Given the description of an element on the screen output the (x, y) to click on. 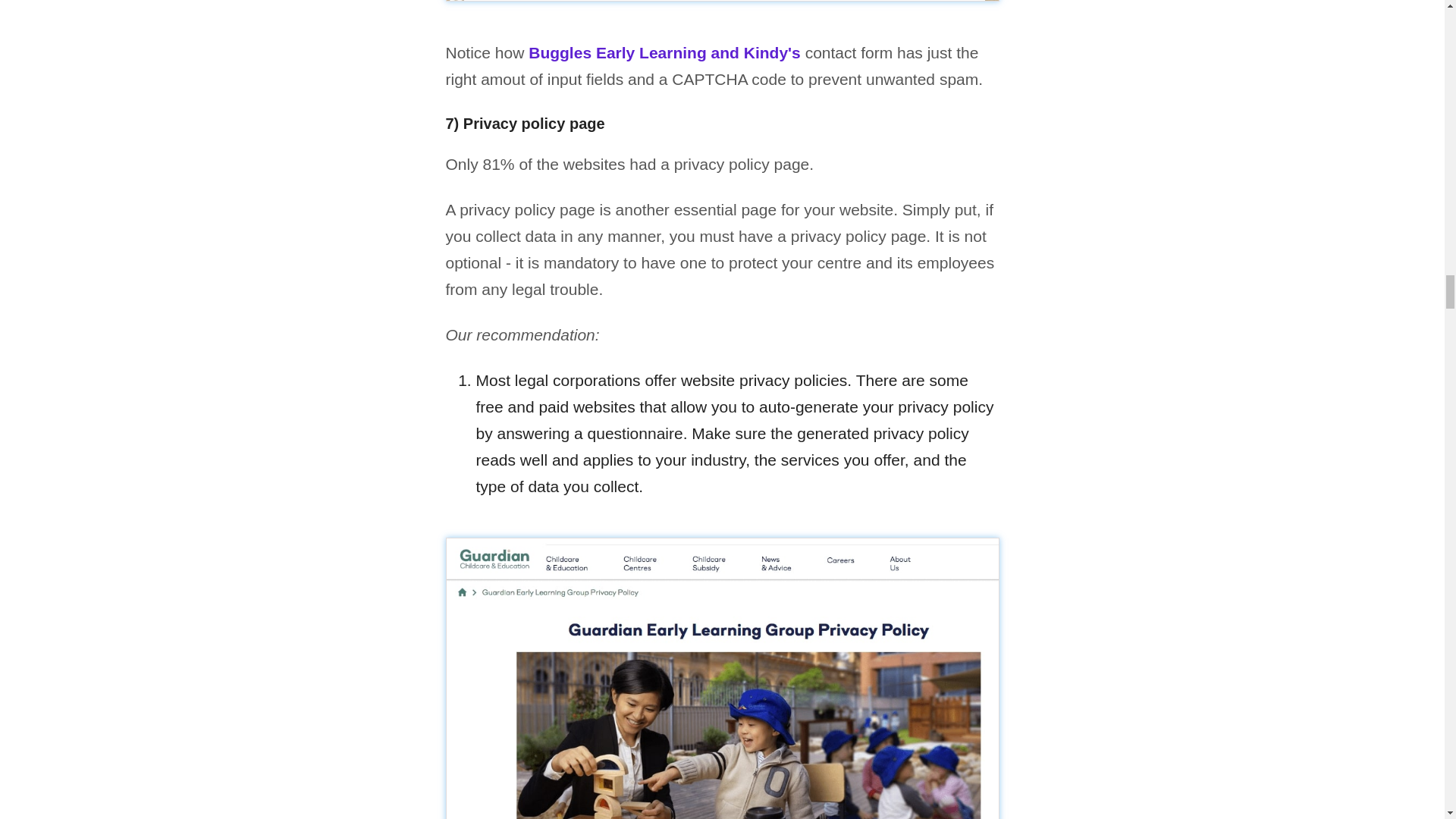
Buggles Early Learning and Kindy's (664, 52)
